Given the description of an element on the screen output the (x, y) to click on. 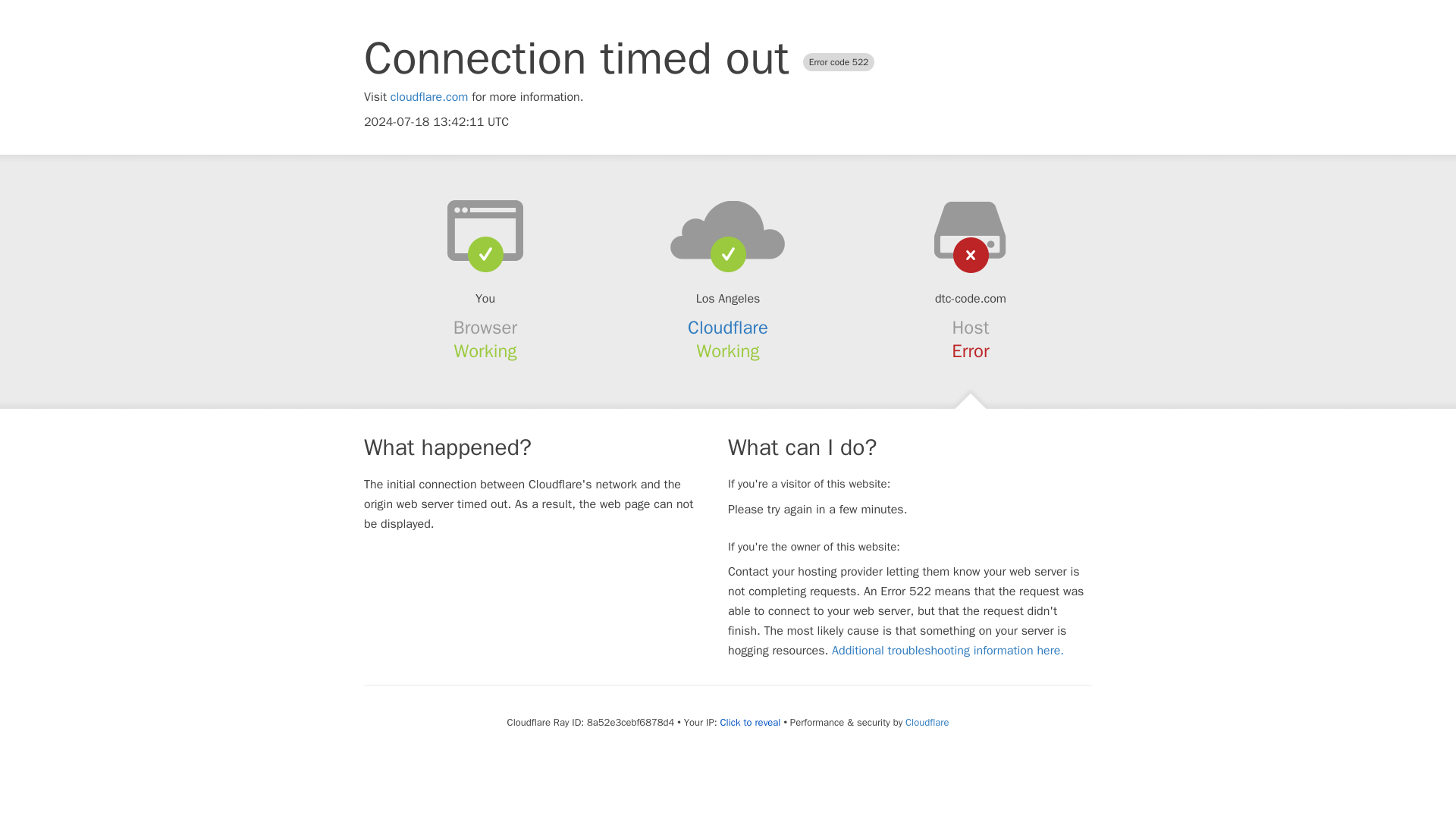
Cloudflare (727, 327)
Click to reveal (750, 722)
cloudflare.com (429, 96)
Additional troubleshooting information here. (947, 650)
Cloudflare (927, 721)
